Given the description of an element on the screen output the (x, y) to click on. 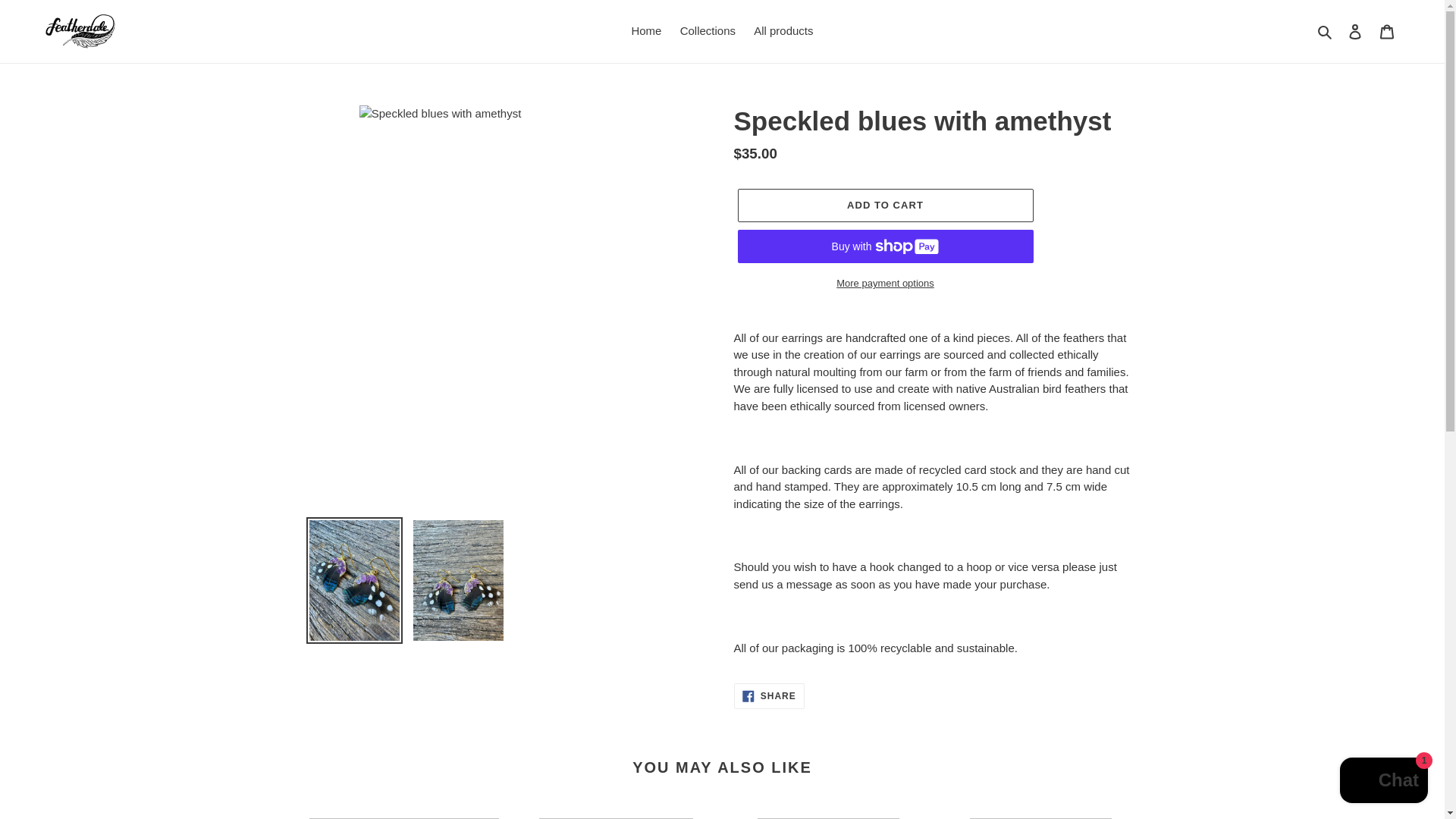
More payment options (884, 283)
Collections (707, 31)
Cart (1387, 31)
Shopify online store chat (1383, 781)
All products (783, 31)
Log in (1355, 31)
Home (645, 31)
ADD TO CART (884, 205)
Search (1326, 31)
